Given the description of an element on the screen output the (x, y) to click on. 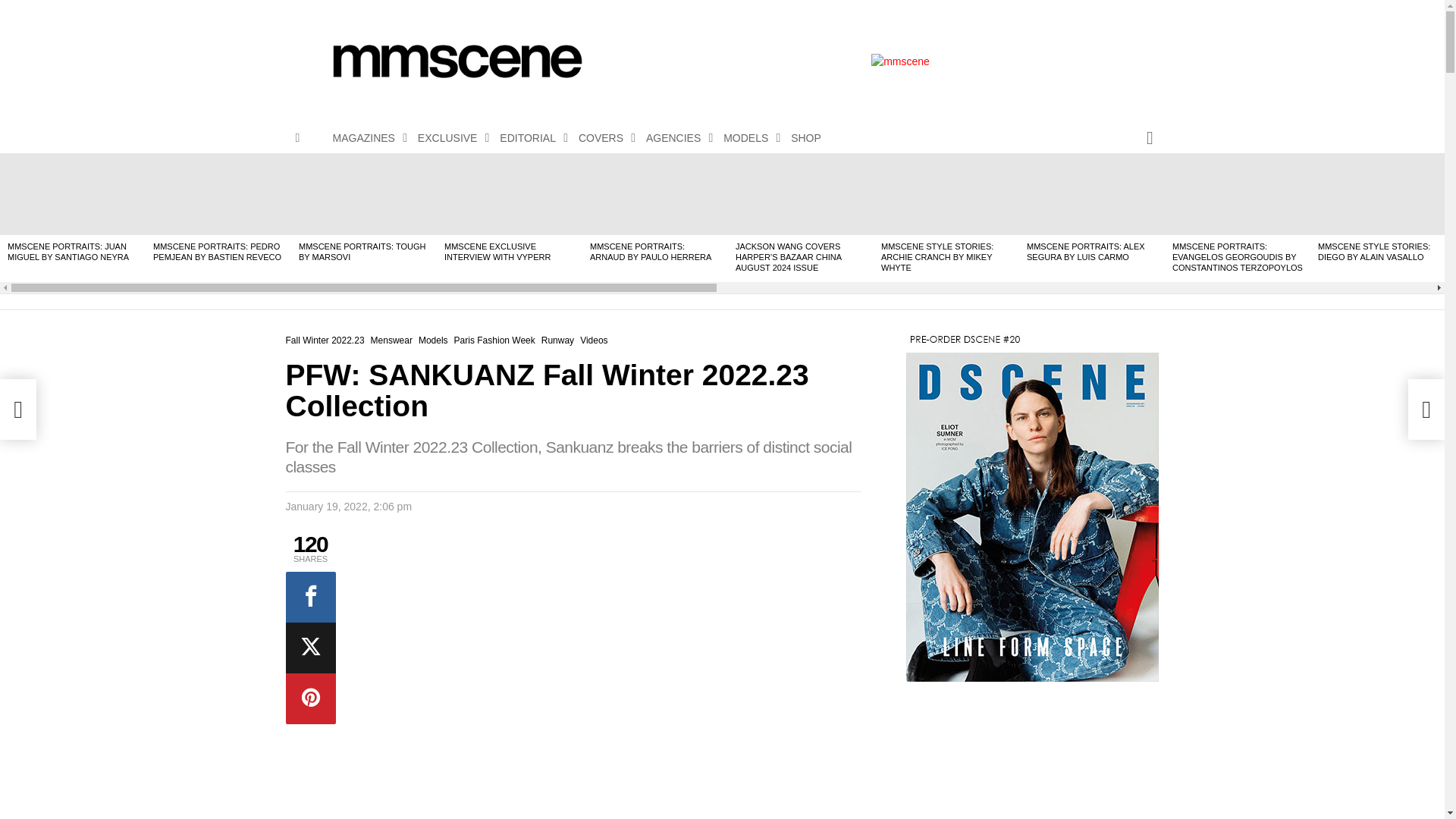
MAGAZINES (365, 137)
MMSCENE PORTRAITS: Pedro Pemjean by Bastien Reveco (218, 194)
MMSCENE PORTRAITS: Tough by Marsovi (363, 194)
MMSCENE PORTRAITS: Juan Miguel by Santiago Neyra (72, 194)
MODELS (748, 137)
COVERS (602, 137)
AGENCIES (676, 137)
Menu (296, 137)
SHOP (805, 137)
EXCLUSIVE (449, 137)
EDITORIAL (529, 137)
